Given the description of an element on the screen output the (x, y) to click on. 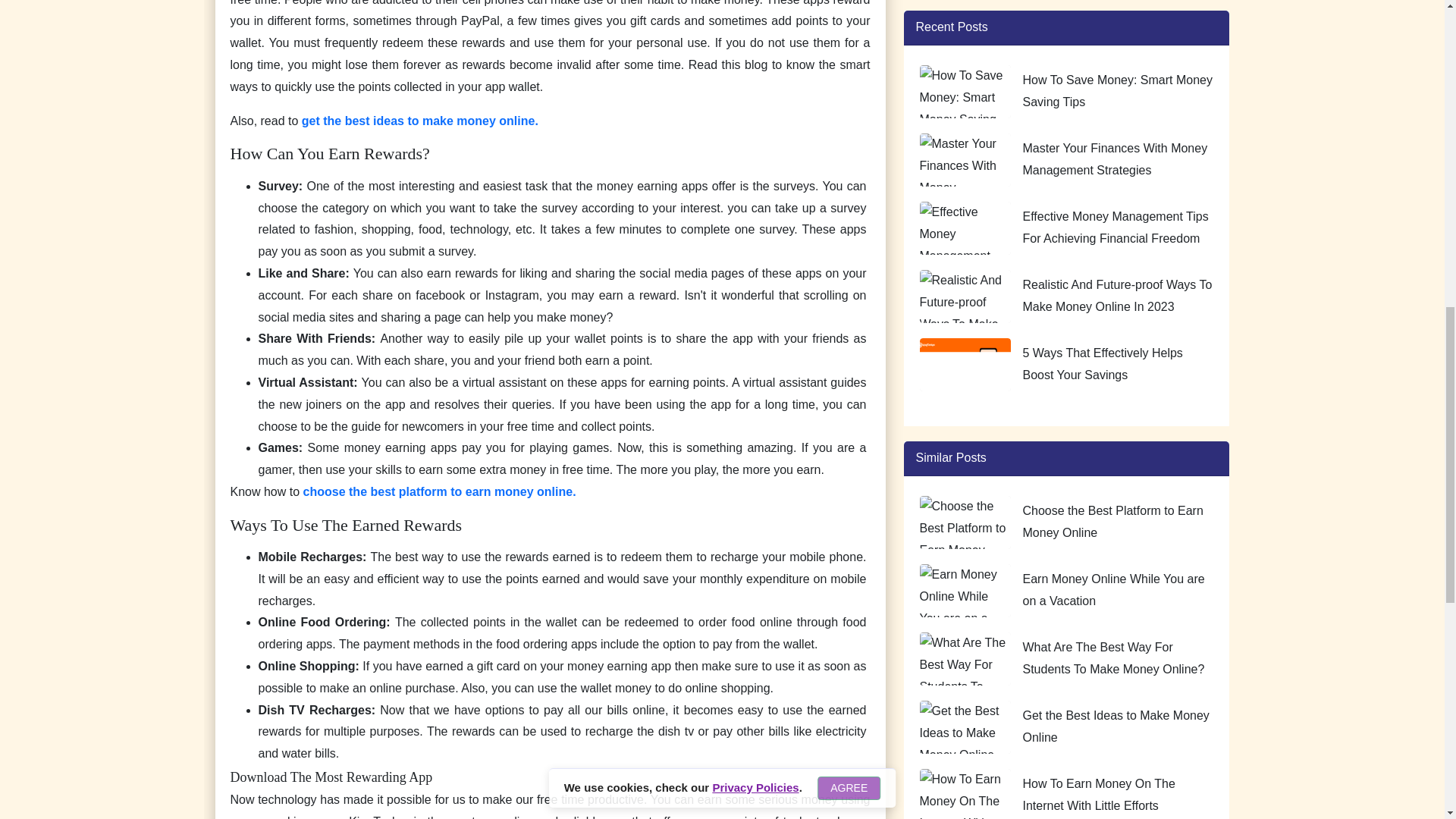
How To Save Money: Smart Money Saving Tips (1116, 90)
choose the best platform to earn money online. (439, 491)
get the best ideas to make money online. (419, 120)
Realistic And Future-proof Ways To Make Money Online In 2023 (1116, 295)
Master Your Finances With Money Management Strategies (1114, 158)
5 Ways That Effectively Helps Boost Your Savings (1102, 363)
